Given the description of an element on the screen output the (x, y) to click on. 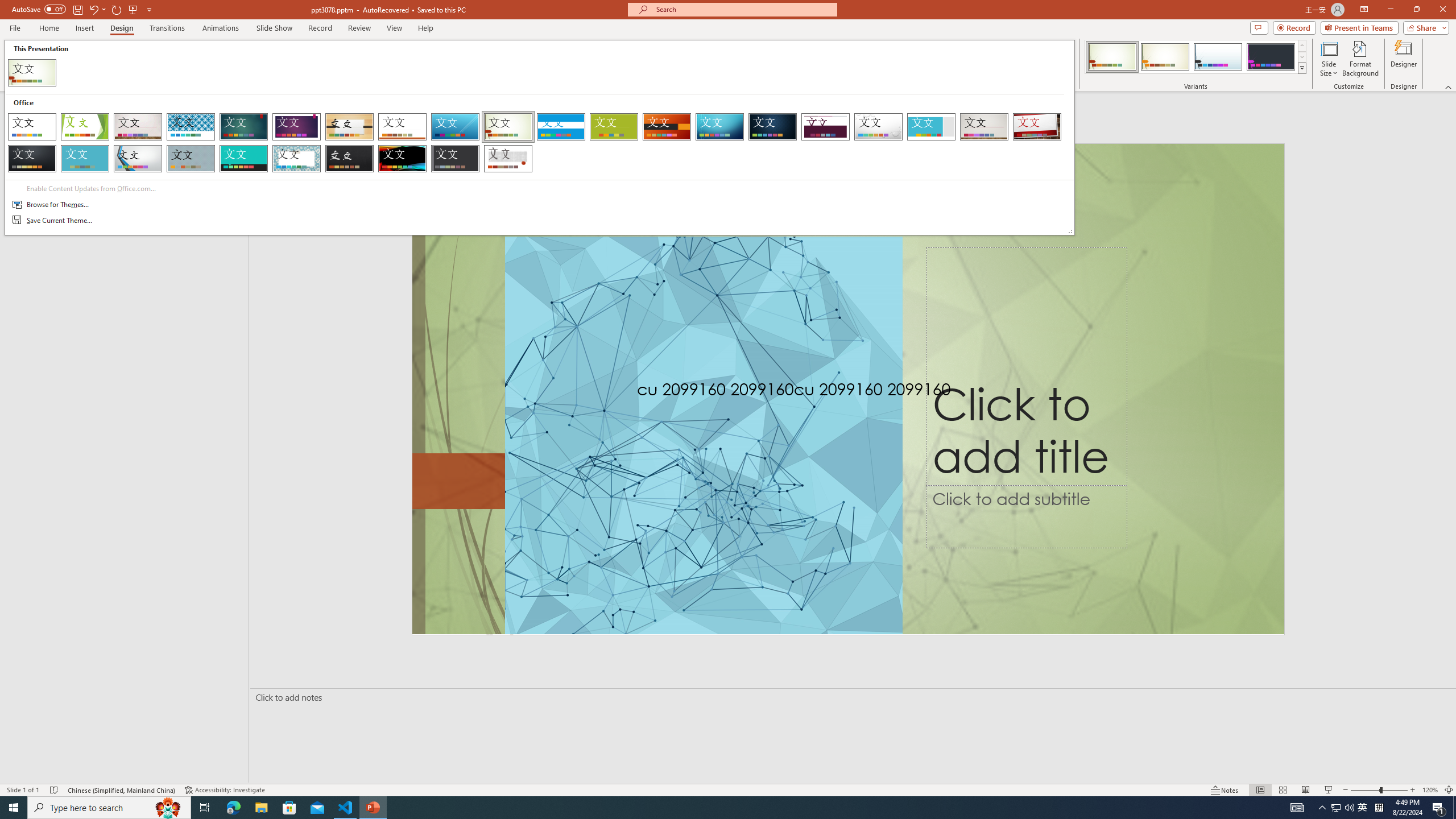
Row up (1301, 45)
Microsoft search (742, 9)
Zoom 120% (1430, 790)
File Explorer (261, 807)
Accessibility Checker Accessibility: Investigate (1362, 807)
Variants (226, 790)
